Given the description of an element on the screen output the (x, y) to click on. 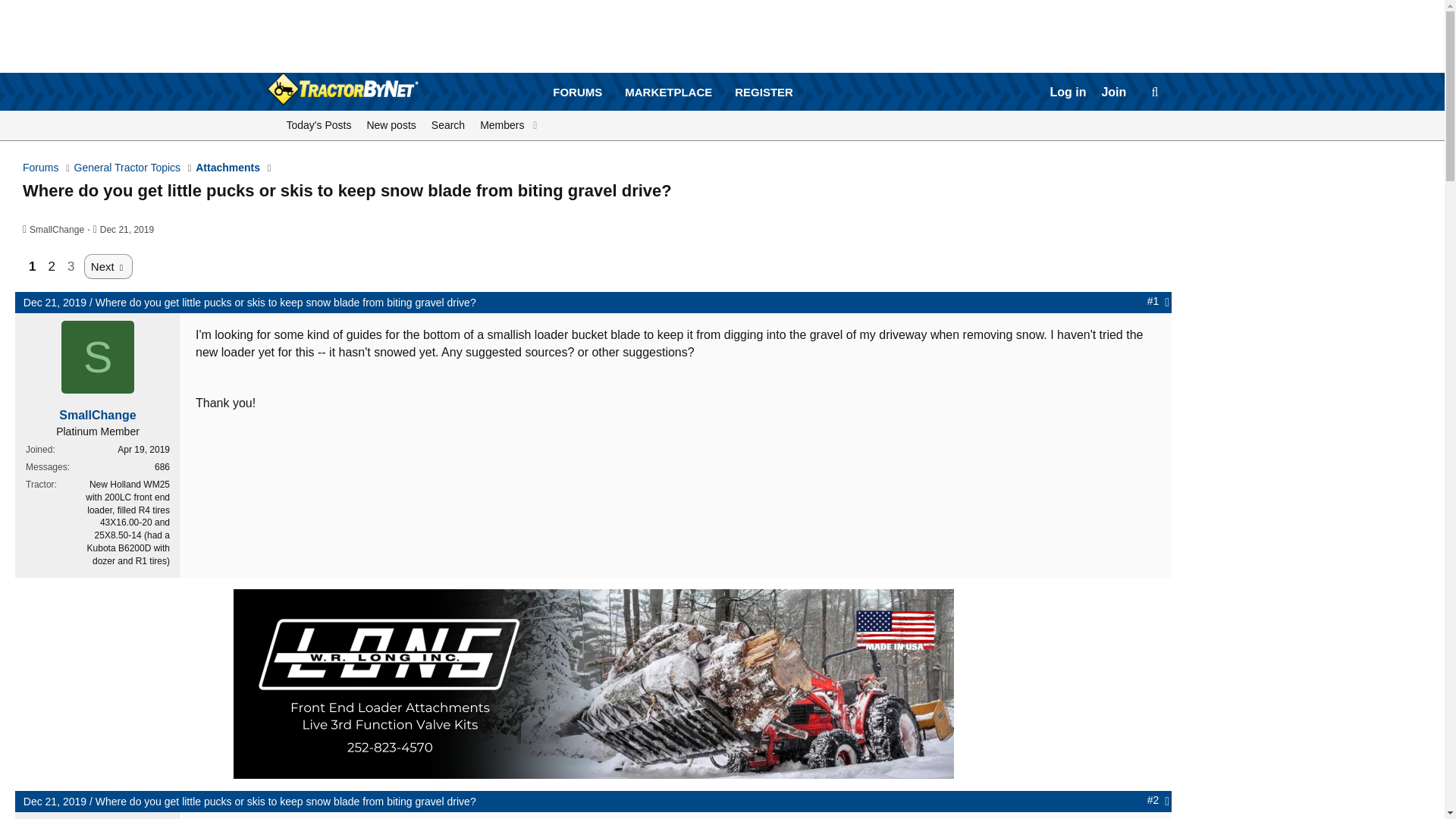
Join (1113, 92)
Forums (673, 109)
Dec 21, 2019 at 9:08 AM (40, 167)
General Tractor Topics (127, 229)
New posts (127, 167)
Dec 21, 2019 at 9:08 AM (390, 125)
Members (54, 302)
SmallChange (721, 142)
Dec 21, 2019 (498, 125)
Attachments (673, 92)
Log in (56, 229)
MARKETPLACE (127, 229)
